Given the description of an element on the screen output the (x, y) to click on. 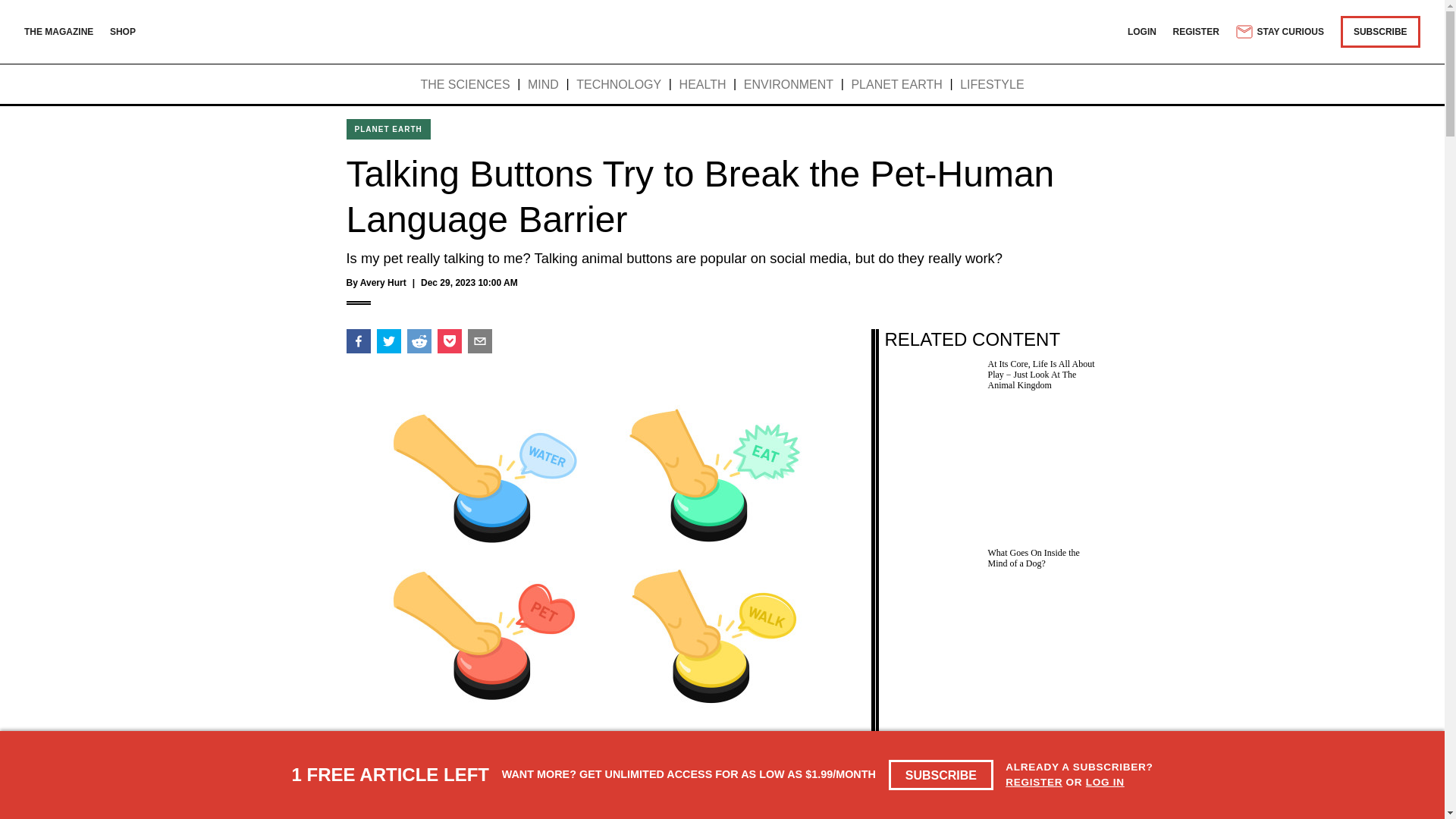
ENVIRONMENT (788, 84)
STAY CURIOUS (1278, 31)
THE MAGAZINE (58, 31)
Avery Hurt (382, 282)
SUBSCRIBE (1380, 31)
LIFESTYLE (991, 84)
SIGN UP (811, 796)
MIND (543, 84)
REGISTER (1034, 781)
SUBSCRIBE (941, 775)
